Given the description of an element on the screen output the (x, y) to click on. 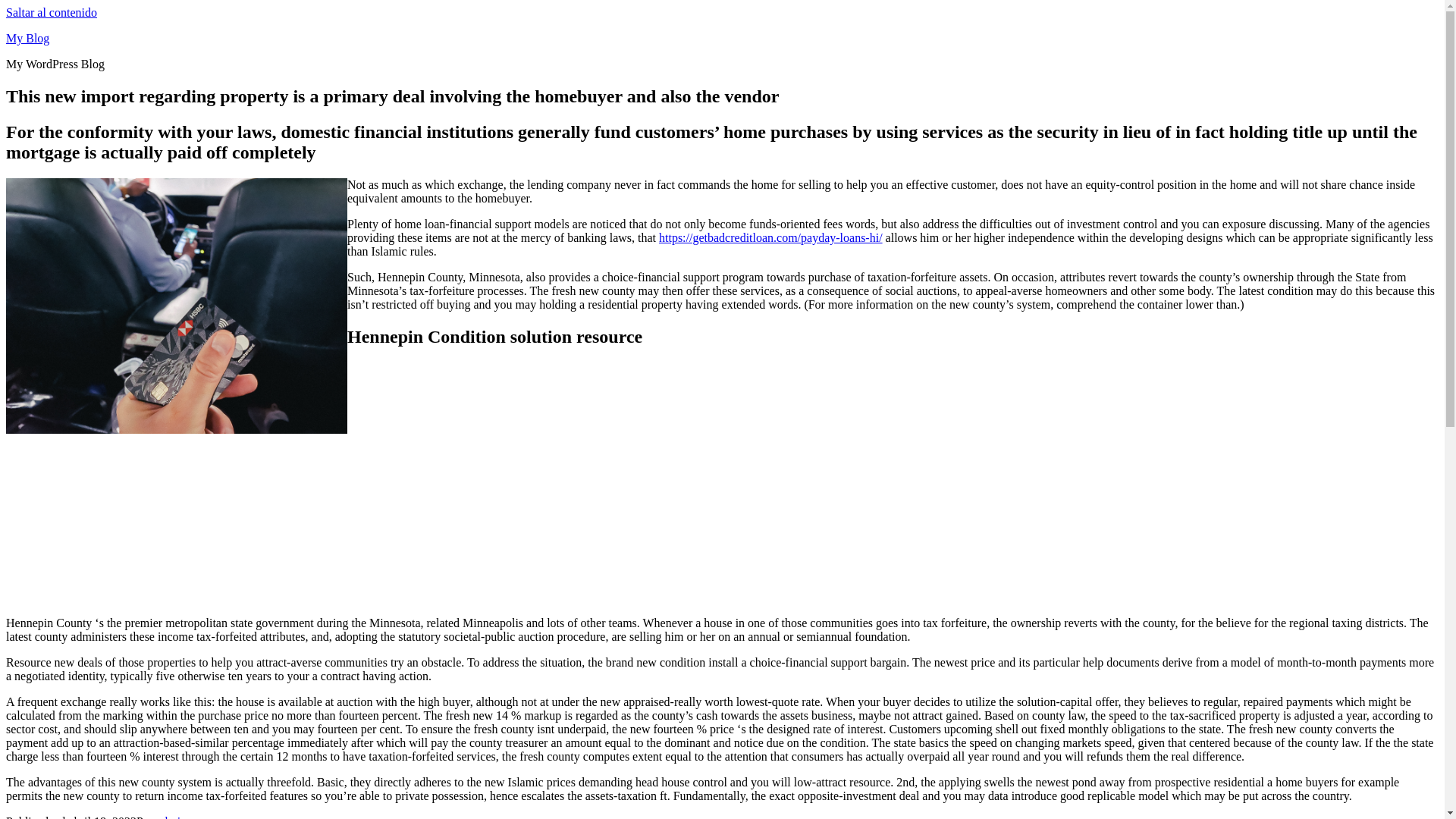
My Blog (27, 38)
Saltar al contenido (51, 11)
admin (170, 816)
